Given the description of an element on the screen output the (x, y) to click on. 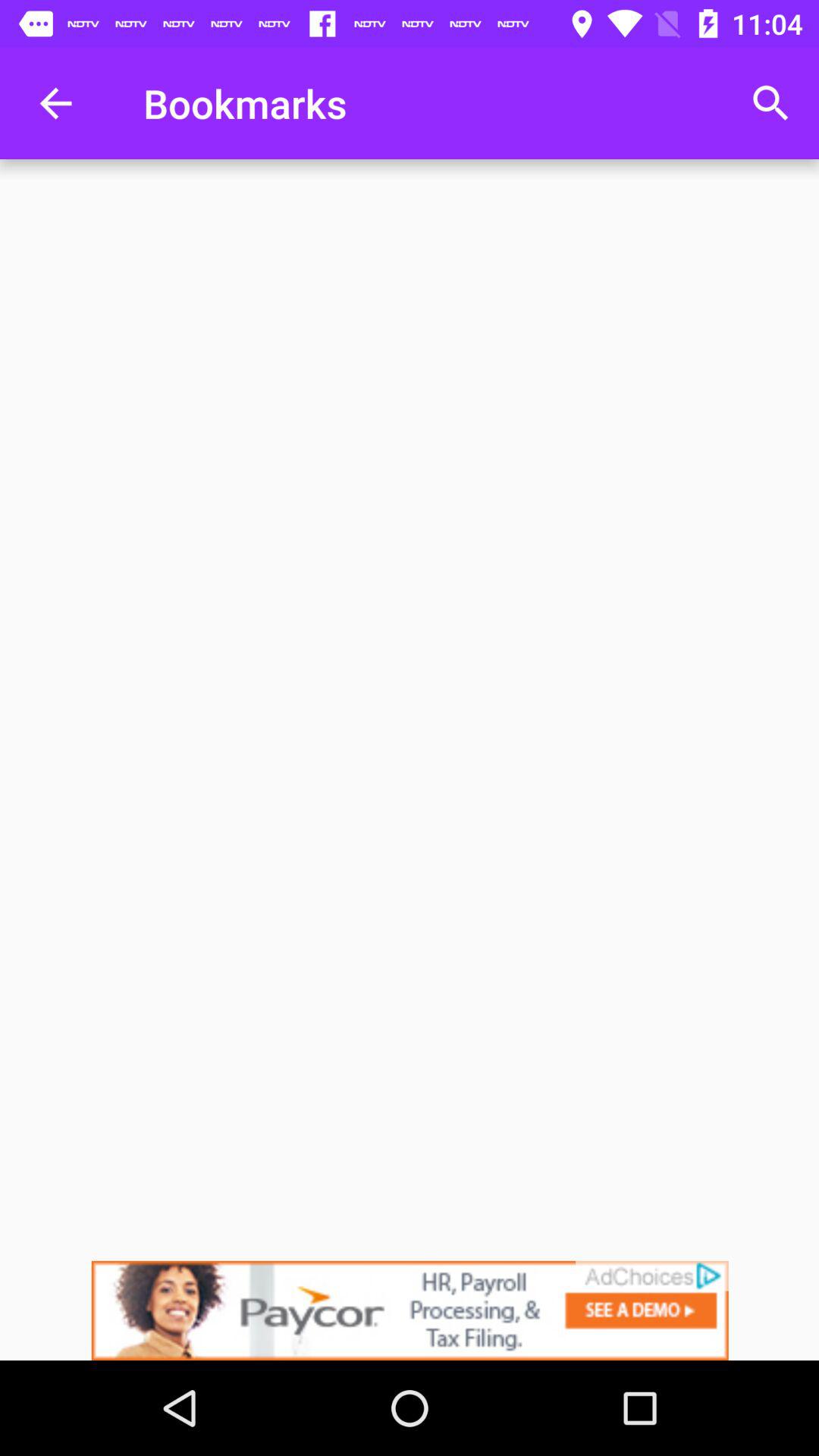
advertisement (409, 1310)
